Given the description of an element on the screen output the (x, y) to click on. 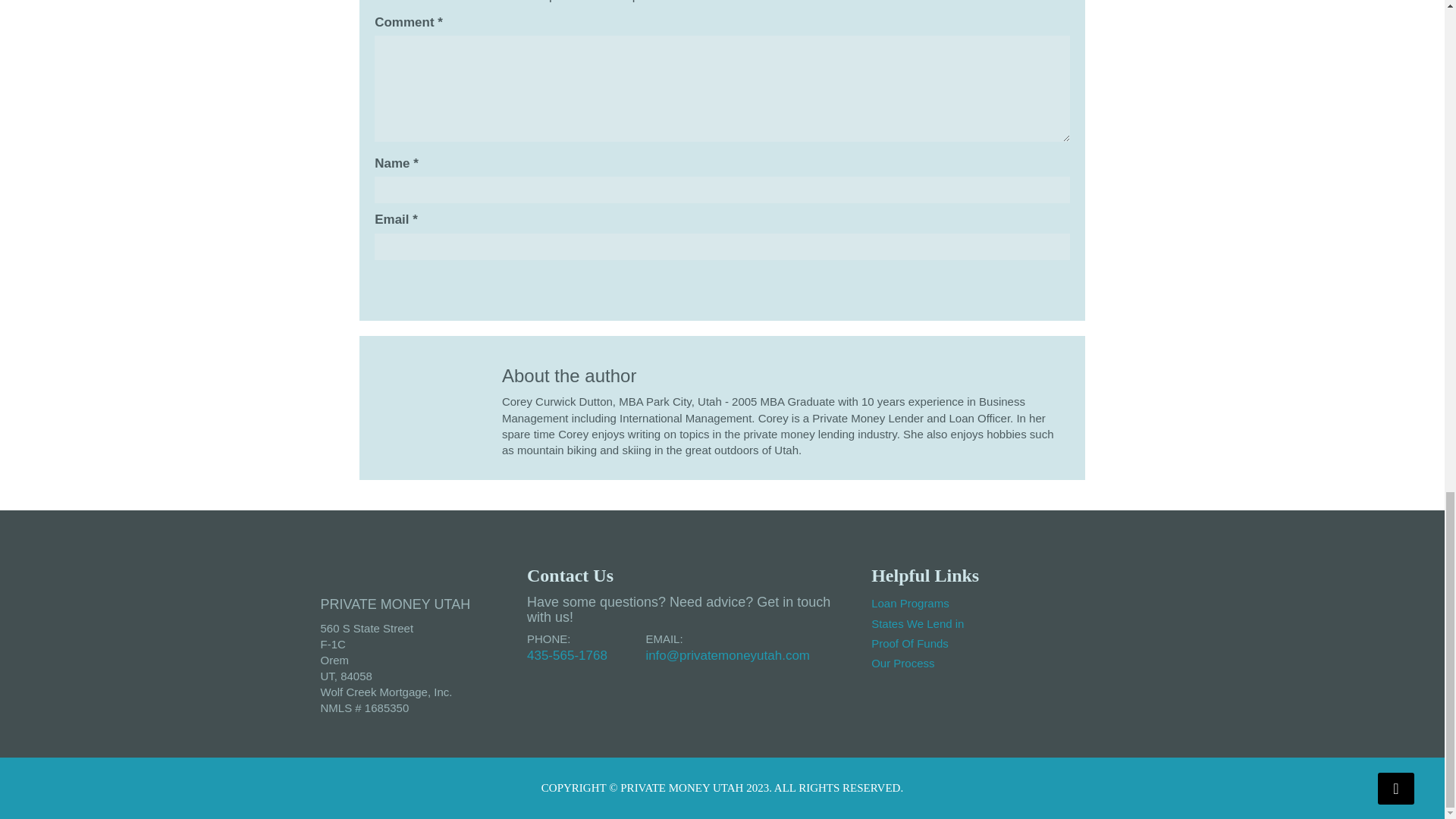
Proof Of Funds (909, 643)
Our Process (902, 662)
States We Lend in (916, 623)
Facebook (1026, 637)
Our Process (902, 662)
Loan Programs (909, 603)
Post Comment (417, 282)
States We Lend in (916, 623)
Proof Of Funds (909, 643)
435-565-1768 (567, 655)
Loan Programs (909, 603)
Linkedin (1065, 637)
Post Comment (417, 282)
